Given the description of an element on the screen output the (x, y) to click on. 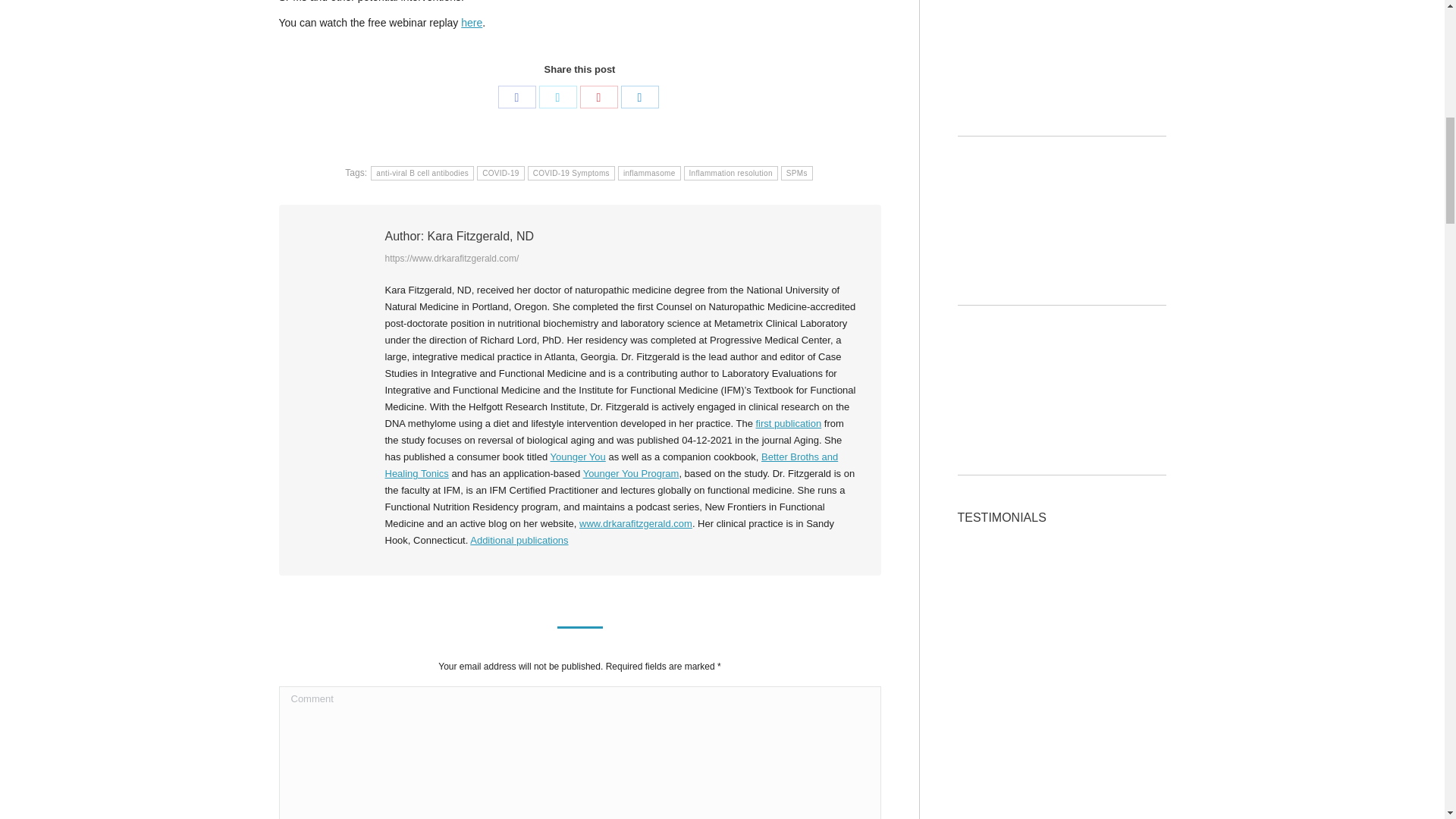
Pinterest (598, 96)
LinkedIn (639, 96)
Twitter (557, 96)
Facebook (516, 96)
